Given the description of an element on the screen output the (x, y) to click on. 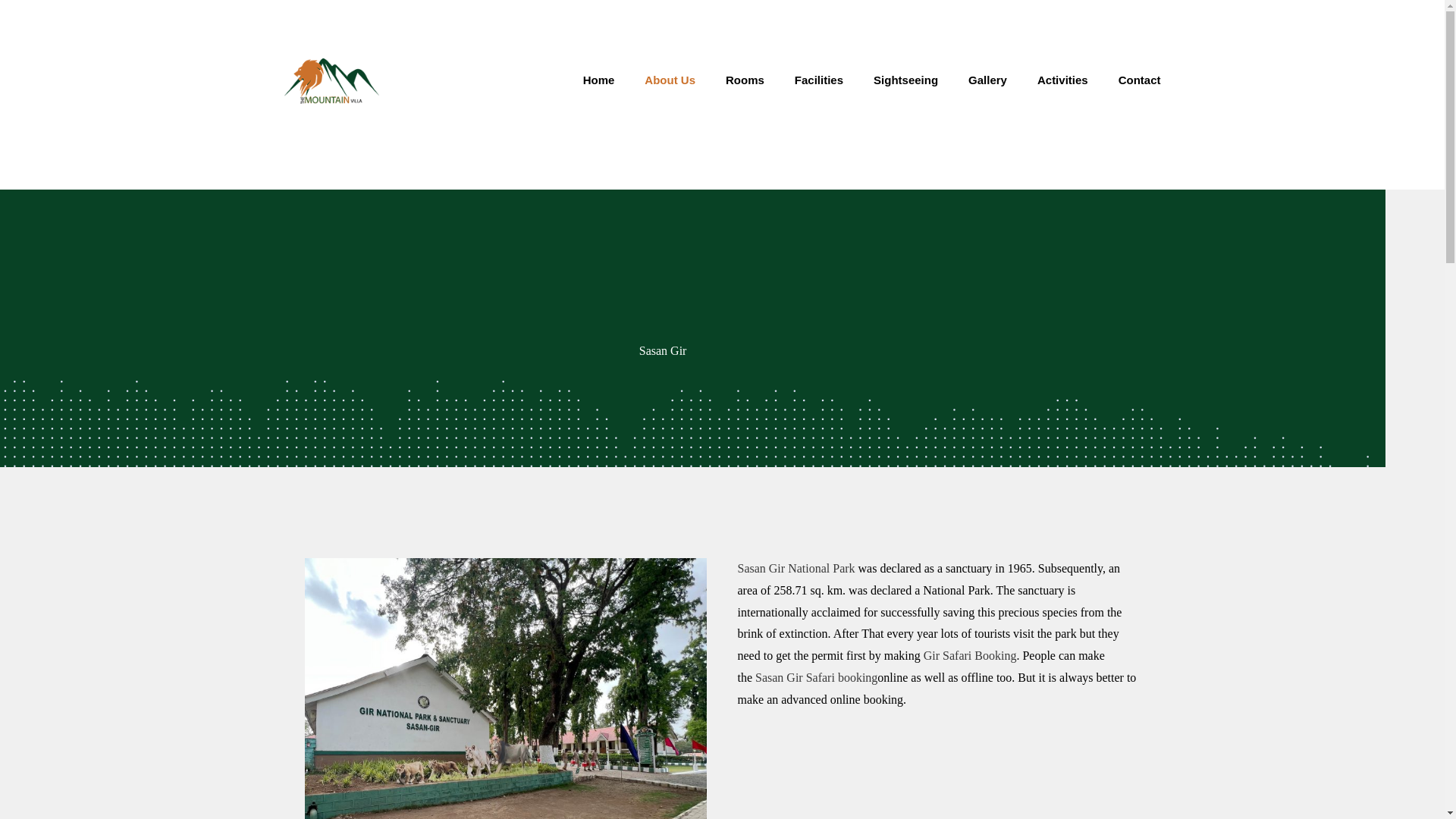
Rooms (744, 79)
Tripadvisor (1094, 23)
Sasan Gir Safari booking (816, 676)
Sightseeing (906, 79)
Sasan Gir National Park (795, 567)
Facebook (1053, 23)
Our Blog (1139, 23)
Gir Safari Booking (969, 655)
Gallery (987, 79)
Best Resorts in Sasan Gir,Resorts in Sasan Gir (330, 79)
Contact (1139, 79)
Facilities (818, 79)
Activities (1062, 79)
Home (598, 79)
Instagram (1073, 23)
